Given the description of an element on the screen output the (x, y) to click on. 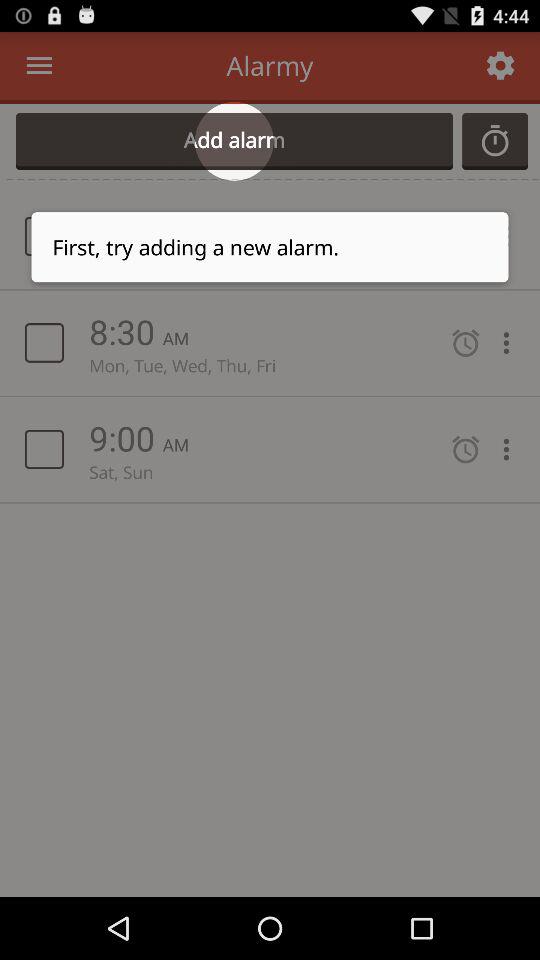
colck (495, 141)
